Given the description of an element on the screen output the (x, y) to click on. 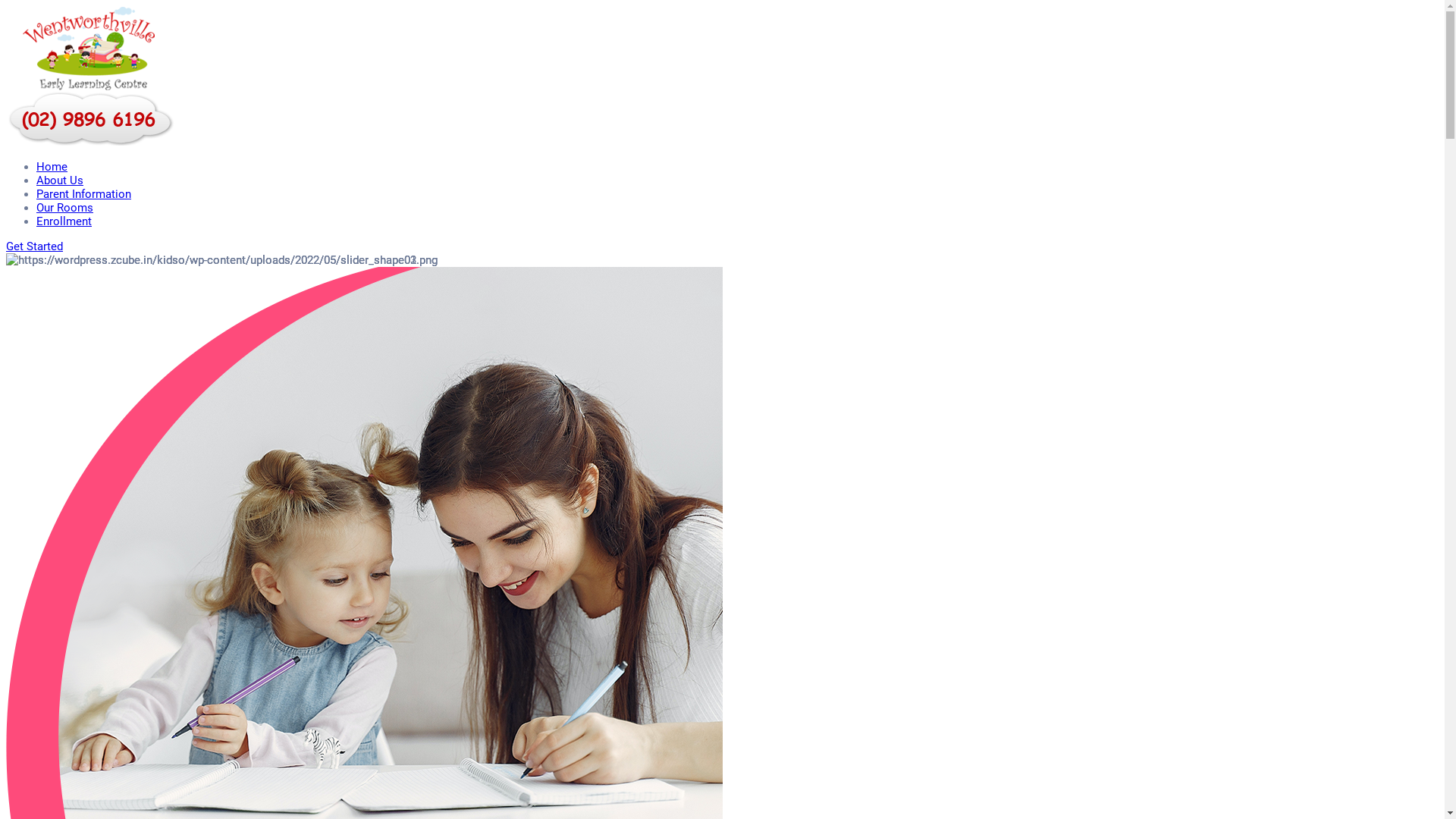
Parent Information Element type: text (83, 193)
Get Started Element type: text (34, 246)
Home Element type: text (51, 166)
About Us Element type: text (59, 180)
Enrollment Element type: text (63, 221)
Our Rooms Element type: text (64, 207)
